Given the description of an element on the screen output the (x, y) to click on. 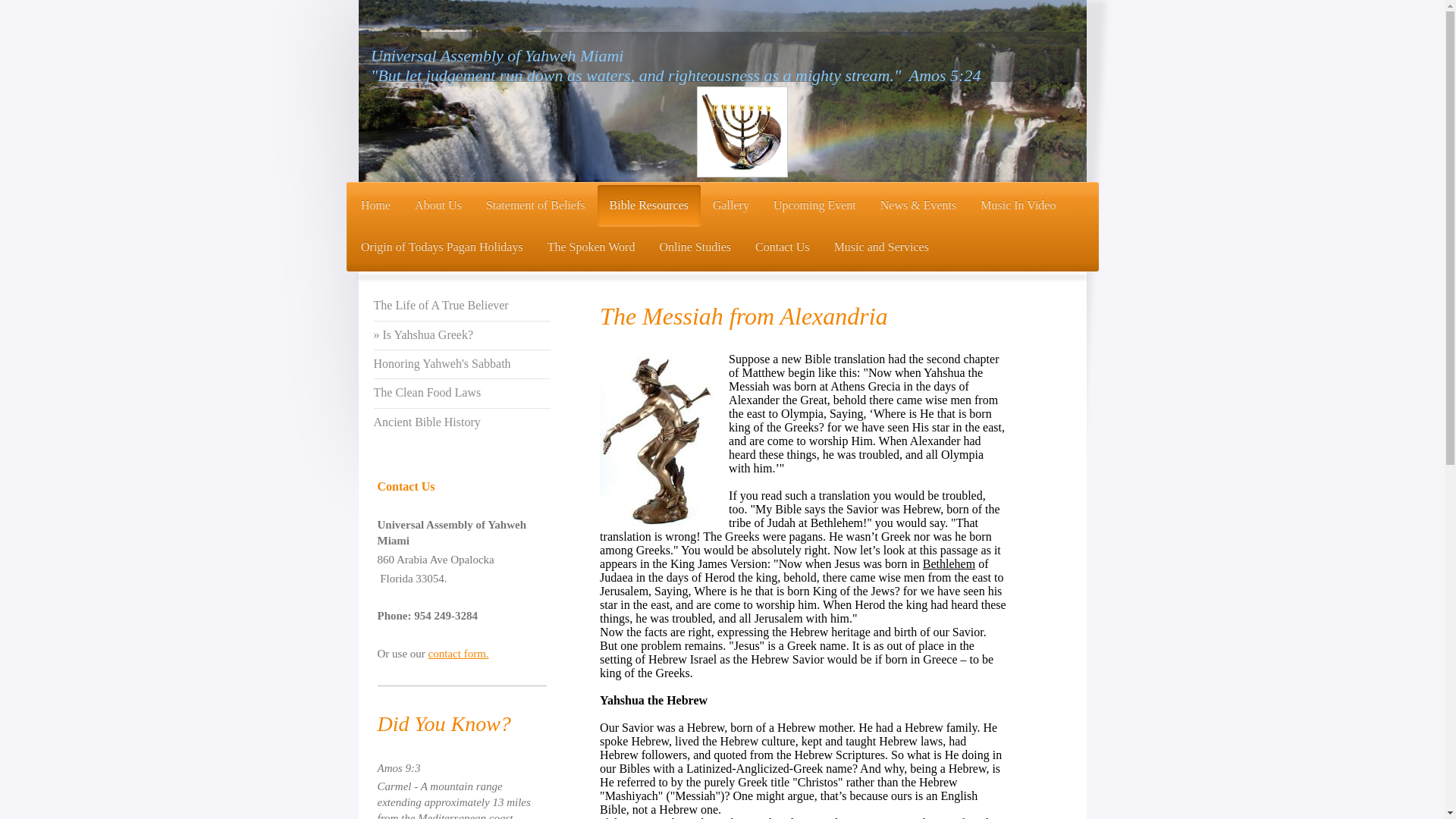
Home (376, 206)
